Given the description of an element on the screen output the (x, y) to click on. 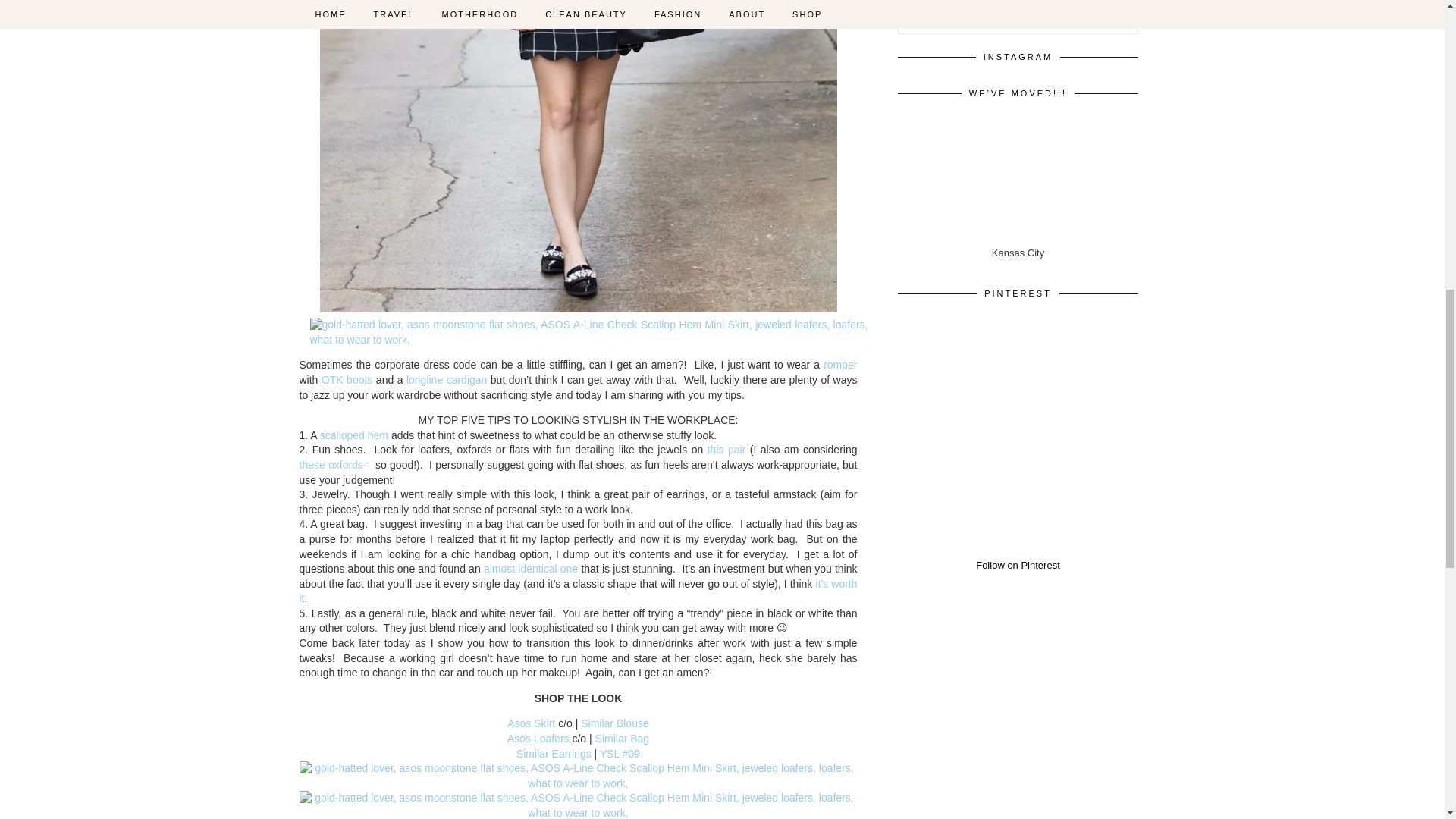
Black and White Never Fails (577, 776)
Five Tips to Looking Stylish in the Workplace (577, 805)
Five Tips to Looking Stylish in the Workplace (587, 332)
